Given the description of an element on the screen output the (x, y) to click on. 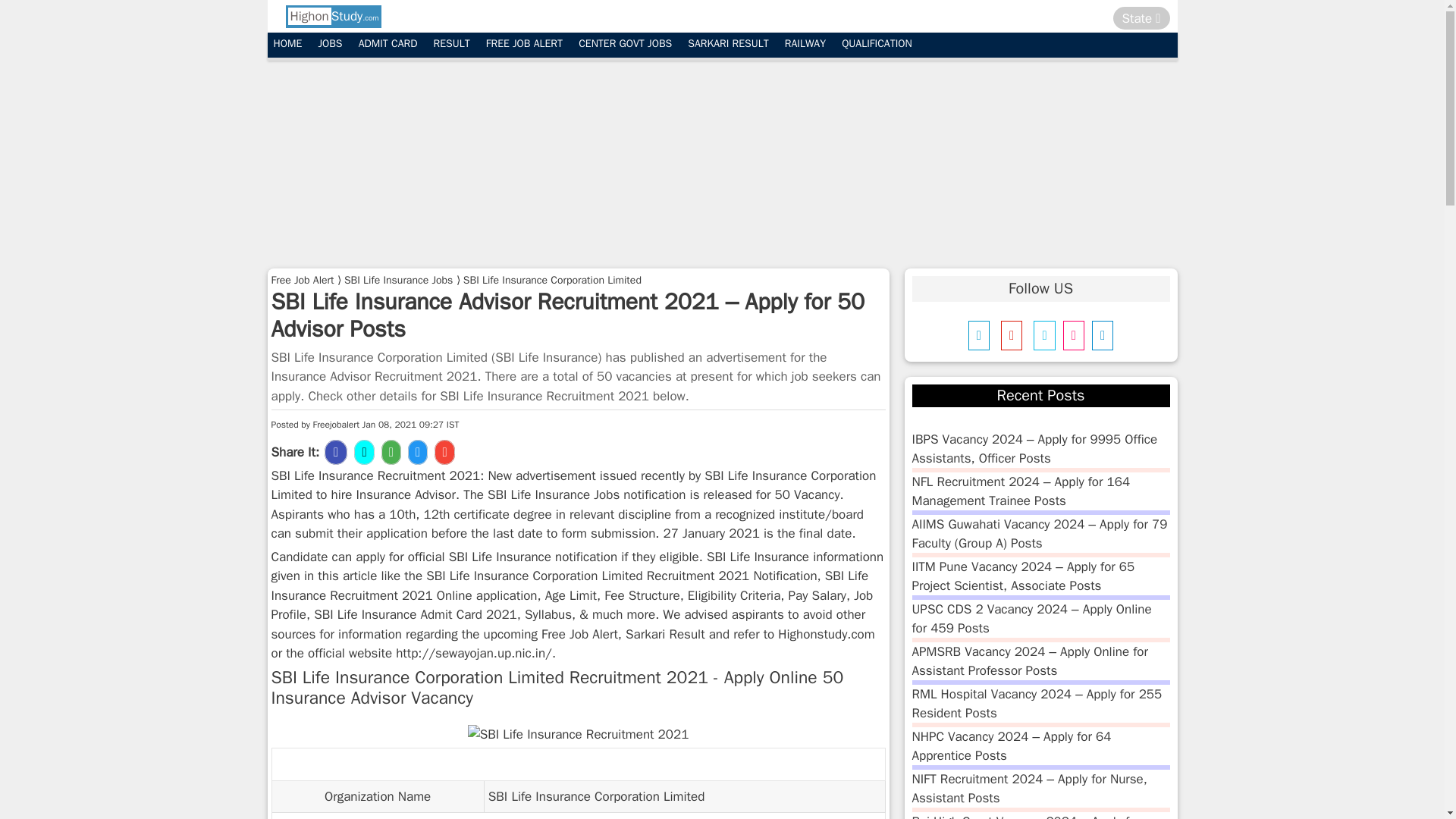
FREE JOB ALERT (524, 44)
SARKARI RESULT (727, 44)
JOBS (329, 44)
HighonStudy.com (332, 15)
ADMIT CARD (387, 44)
Free Job Alert (302, 278)
RESULT (452, 44)
CENTER GOVT JOBS (625, 44)
SBI Life Insurance Jobs (397, 278)
HOME (286, 44)
RAILWAY (804, 44)
QUALIFICATION (876, 44)
